Given the description of an element on the screen output the (x, y) to click on. 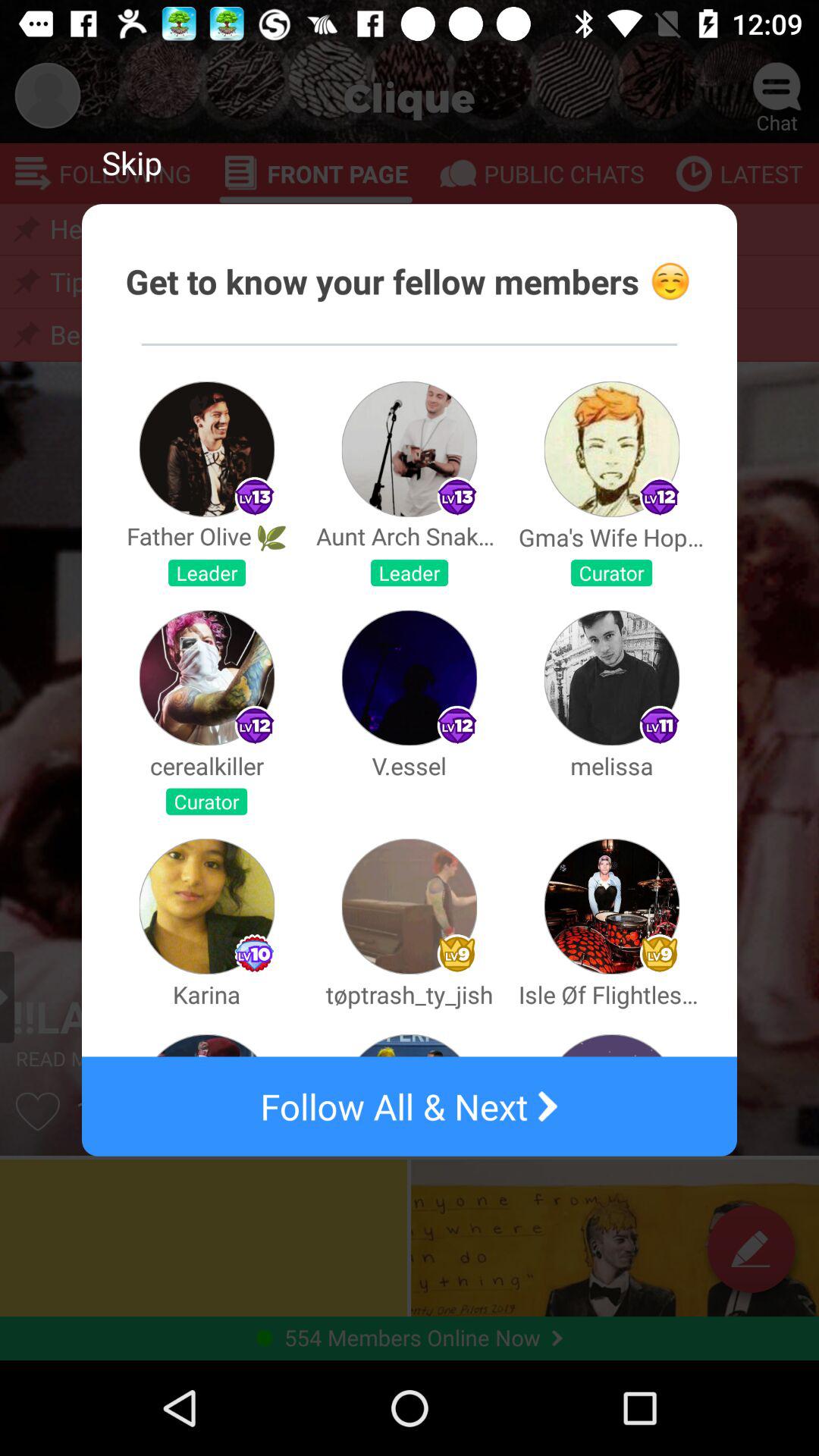
launch skip item (131, 162)
